Given the description of an element on the screen output the (x, y) to click on. 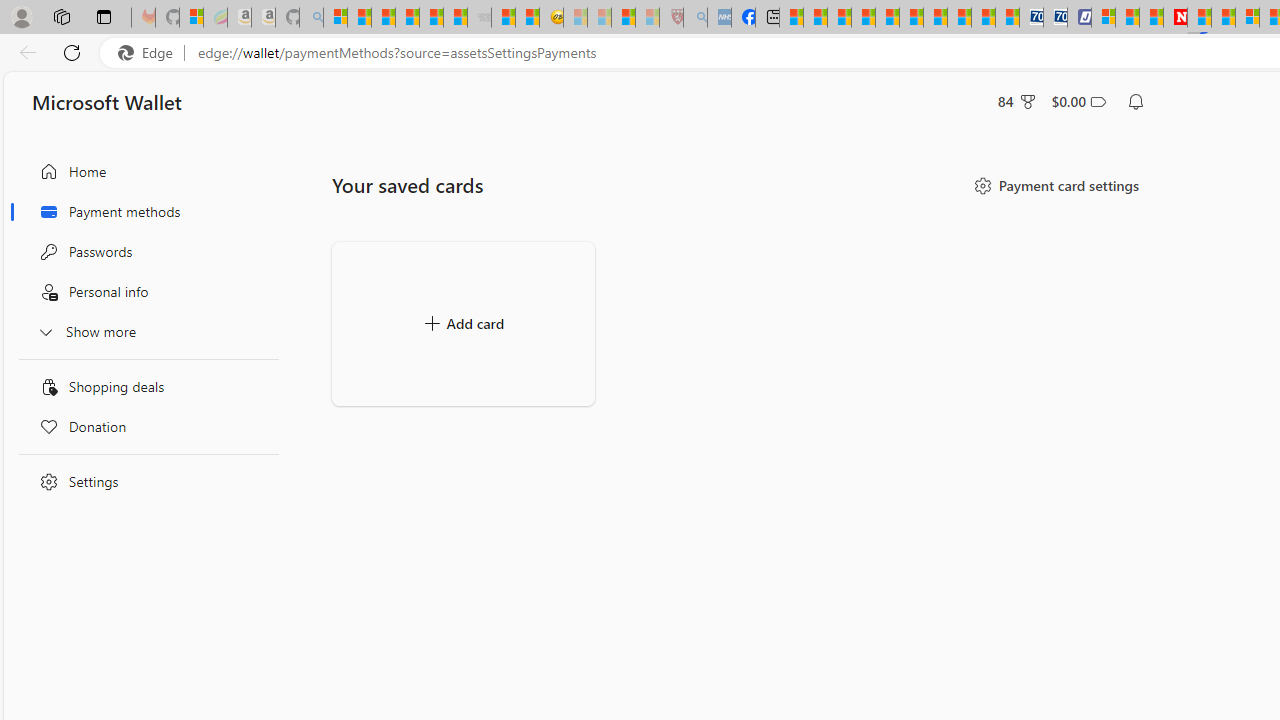
Microsoft Cashback - $0.00 (1078, 101)
Combat Siege - Sleeping (479, 17)
Donation (143, 426)
Shopping deals (143, 386)
Edge (150, 53)
